Given the description of an element on the screen output the (x, y) to click on. 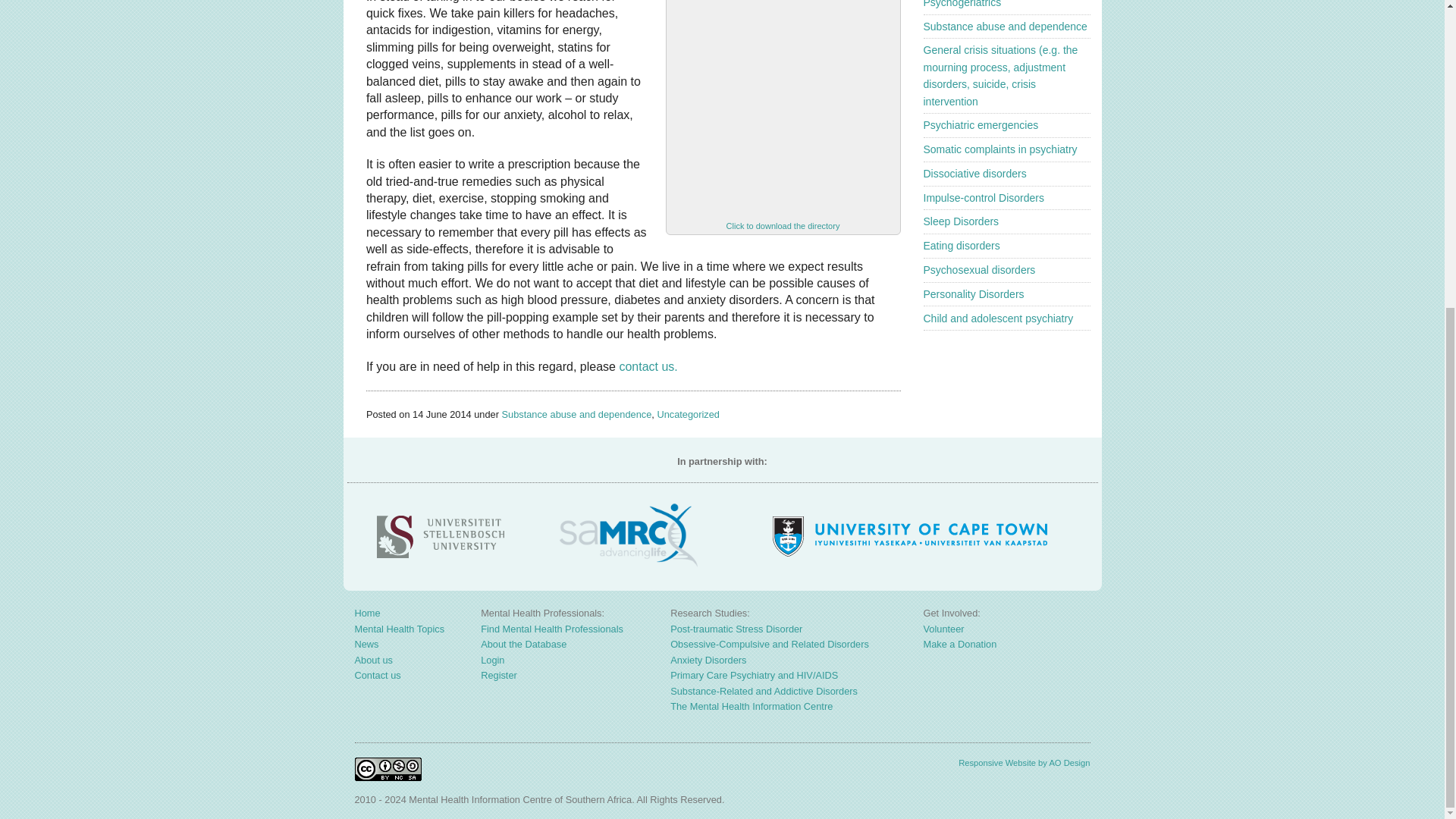
Psychogeriatrics (962, 4)
Uncategorized (687, 414)
Click to download the directory (782, 107)
contact us. (647, 366)
Substance abuse and dependence (575, 414)
Contact us (647, 366)
Substance abuse and dependence (1005, 26)
Click to download the directory (783, 225)
